Given the description of an element on the screen output the (x, y) to click on. 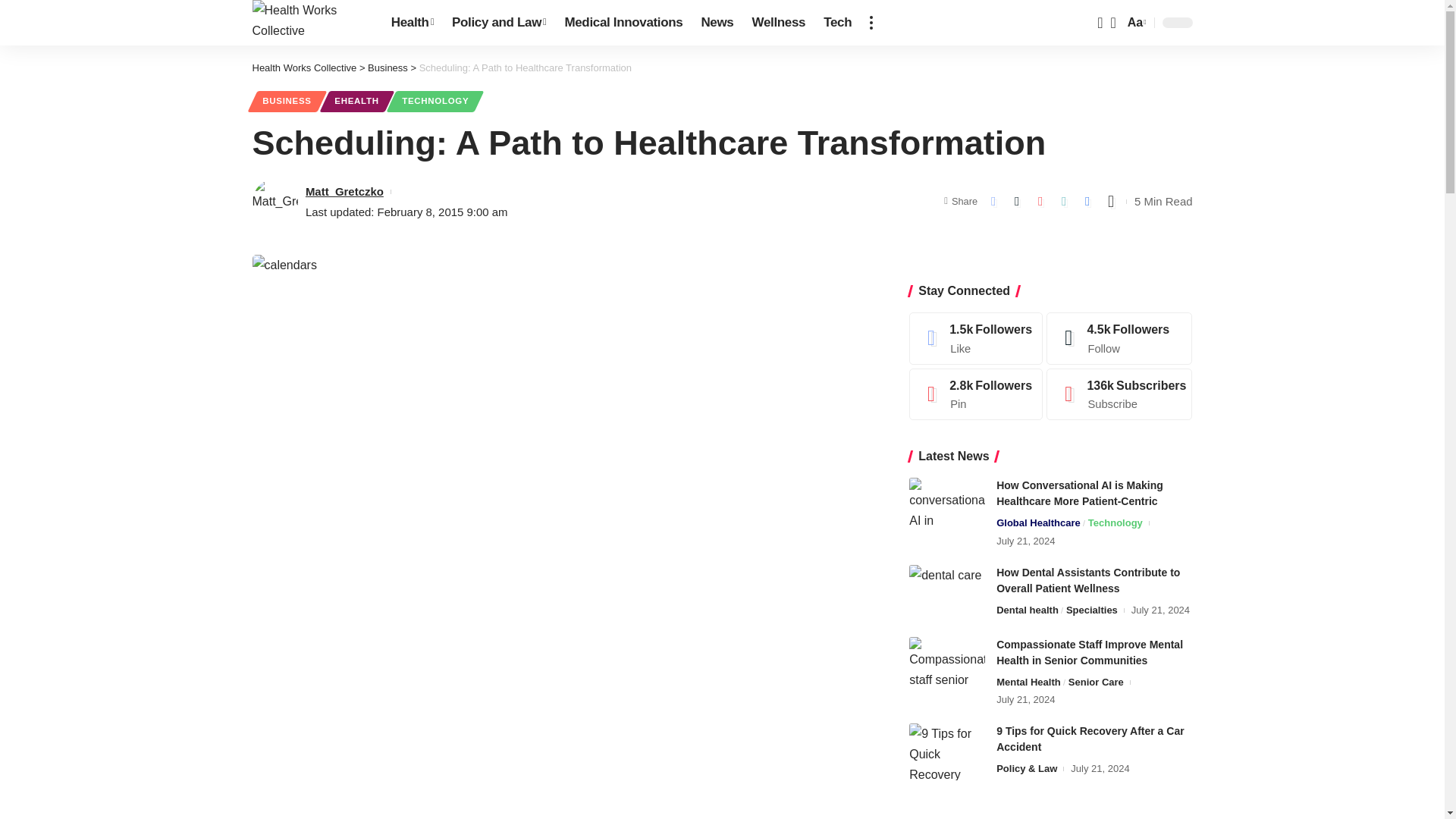
Policy and Law (498, 22)
9 Tips for Quick Recovery After a Car Accident (946, 751)
Wellness (778, 22)
Medical Innovations (622, 22)
Go to the Business Category archives. (387, 67)
Tech (836, 22)
How Dental Assistants Contribute to Overall Patient Wellness (946, 593)
News (716, 22)
Health (411, 22)
Health Works Collective (308, 22)
Go to Health Works Collective. (303, 67)
